Given the description of an element on the screen output the (x, y) to click on. 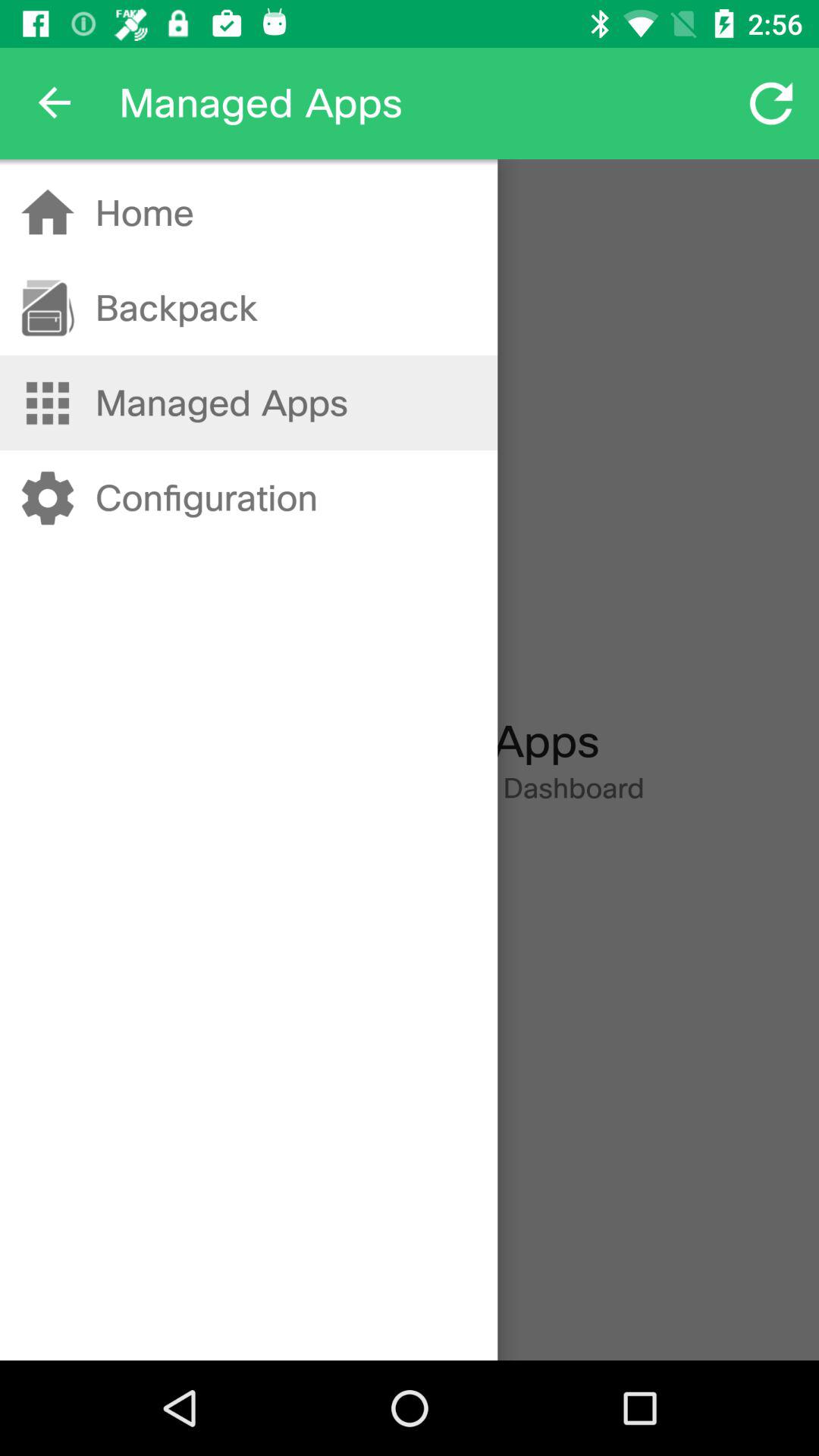
scroll to the home icon (144, 212)
